Given the description of an element on the screen output the (x, y) to click on. 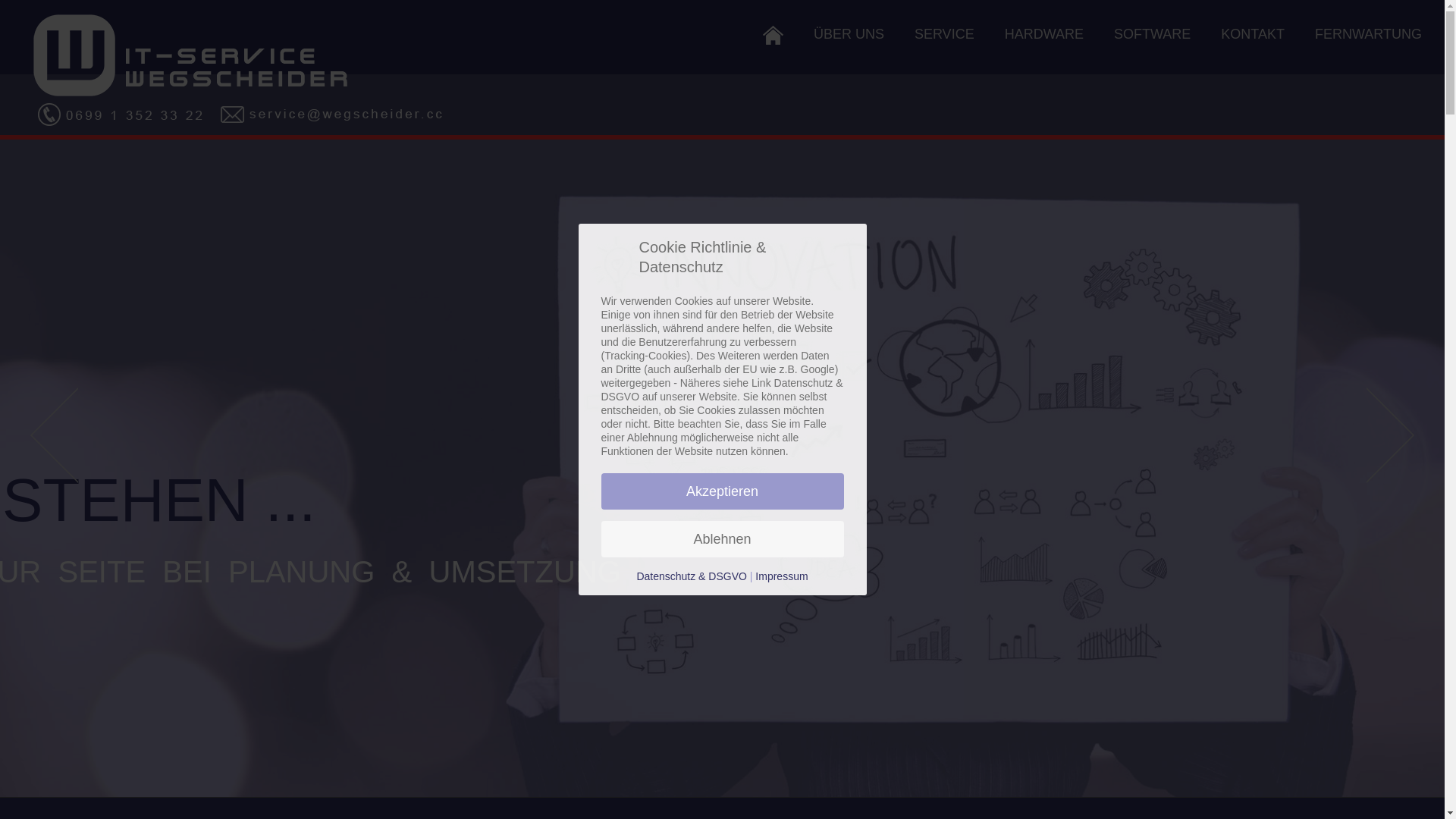
SERVICE Element type: text (944, 34)
HARDWARE Element type: text (1043, 34)
KONTAKT Element type: text (1252, 34)
SOFTWARE Element type: text (1151, 34)
Ablehnen Element type: text (721, 538)
Impressum Element type: text (781, 576)
Akzeptieren Element type: text (721, 491)
FERNWARTUNG Element type: text (1368, 34)
Datenschutz & DSGVO Element type: text (691, 576)
